Given the description of an element on the screen output the (x, y) to click on. 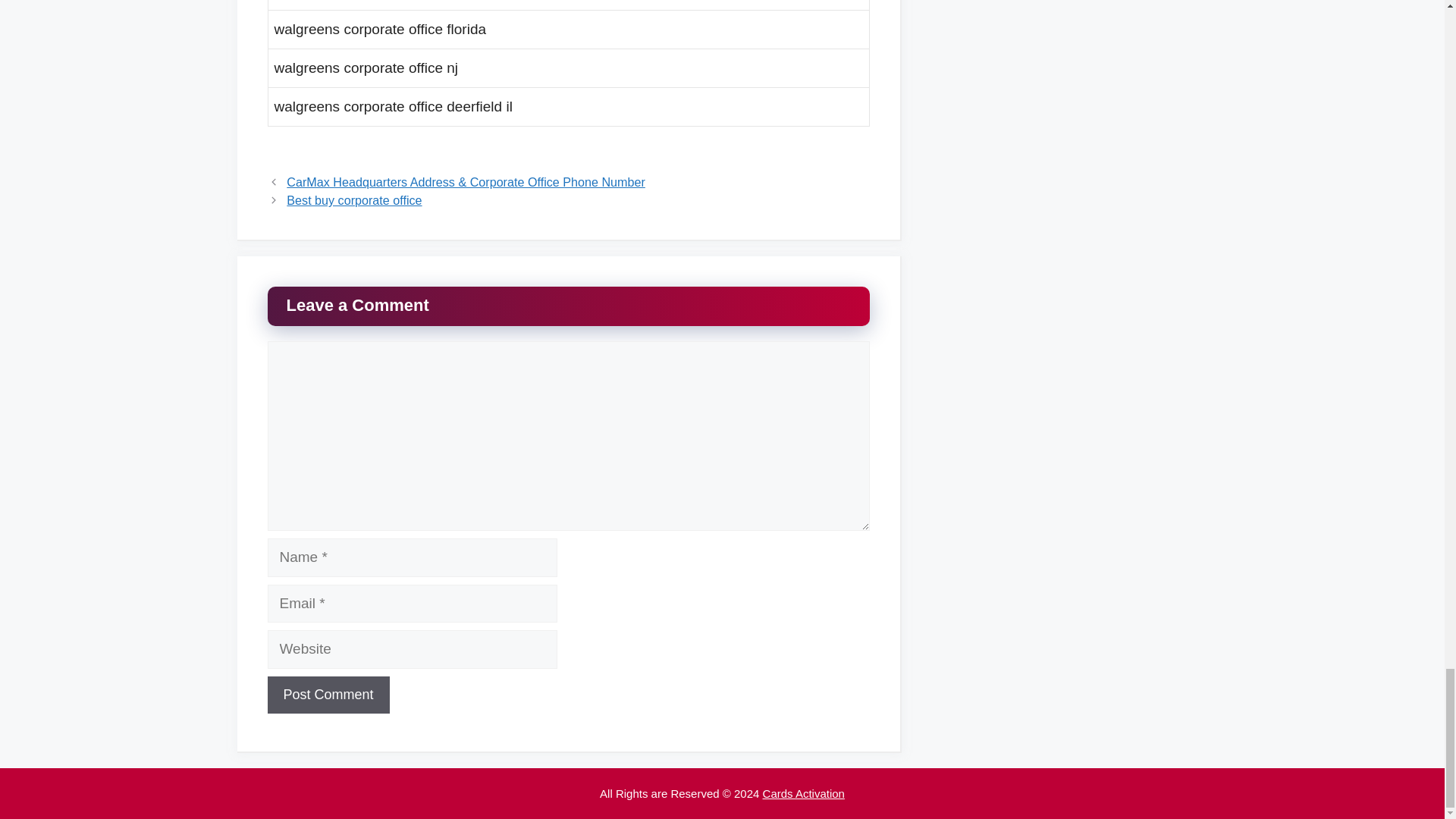
Post Comment (327, 694)
Cards Activation (803, 793)
Post Comment (327, 694)
Best buy corporate office (354, 200)
